Given the description of an element on the screen output the (x, y) to click on. 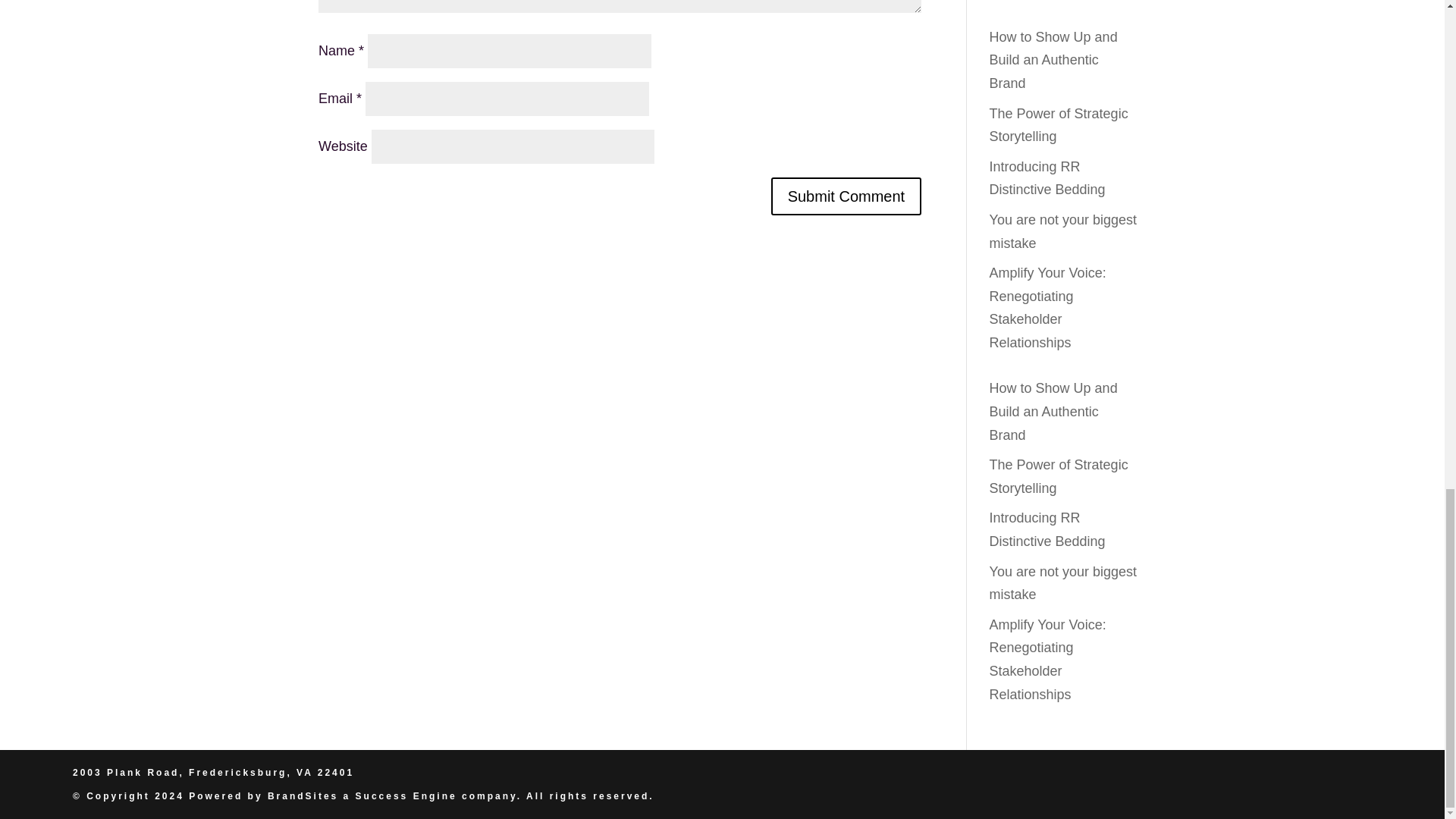
Introducing RR Distinctive Bedding (1047, 529)
Submit Comment (846, 196)
How to Show Up and Build an Authentic Brand (1054, 59)
The Power of Strategic Storytelling (1059, 476)
The Power of Strategic Storytelling (1059, 125)
You are not your biggest mistake (1063, 231)
How to Show Up and Build an Authentic Brand (1054, 411)
You are not your biggest mistake (1063, 583)
Submit Comment (846, 196)
Introducing RR Distinctive Bedding (1047, 178)
